Given the description of an element on the screen output the (x, y) to click on. 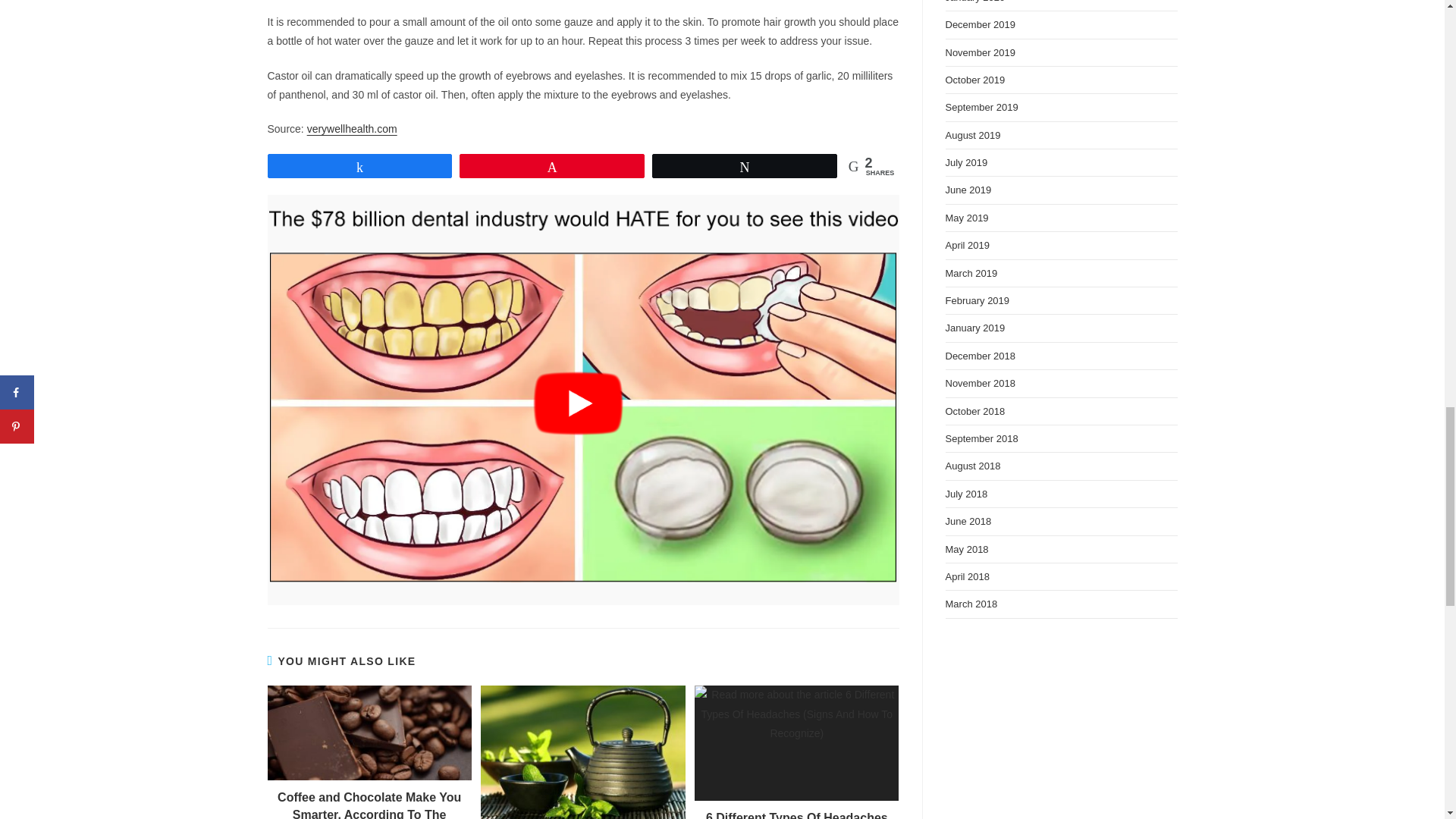
verywellhealth.com (352, 128)
